Given the description of an element on the screen output the (x, y) to click on. 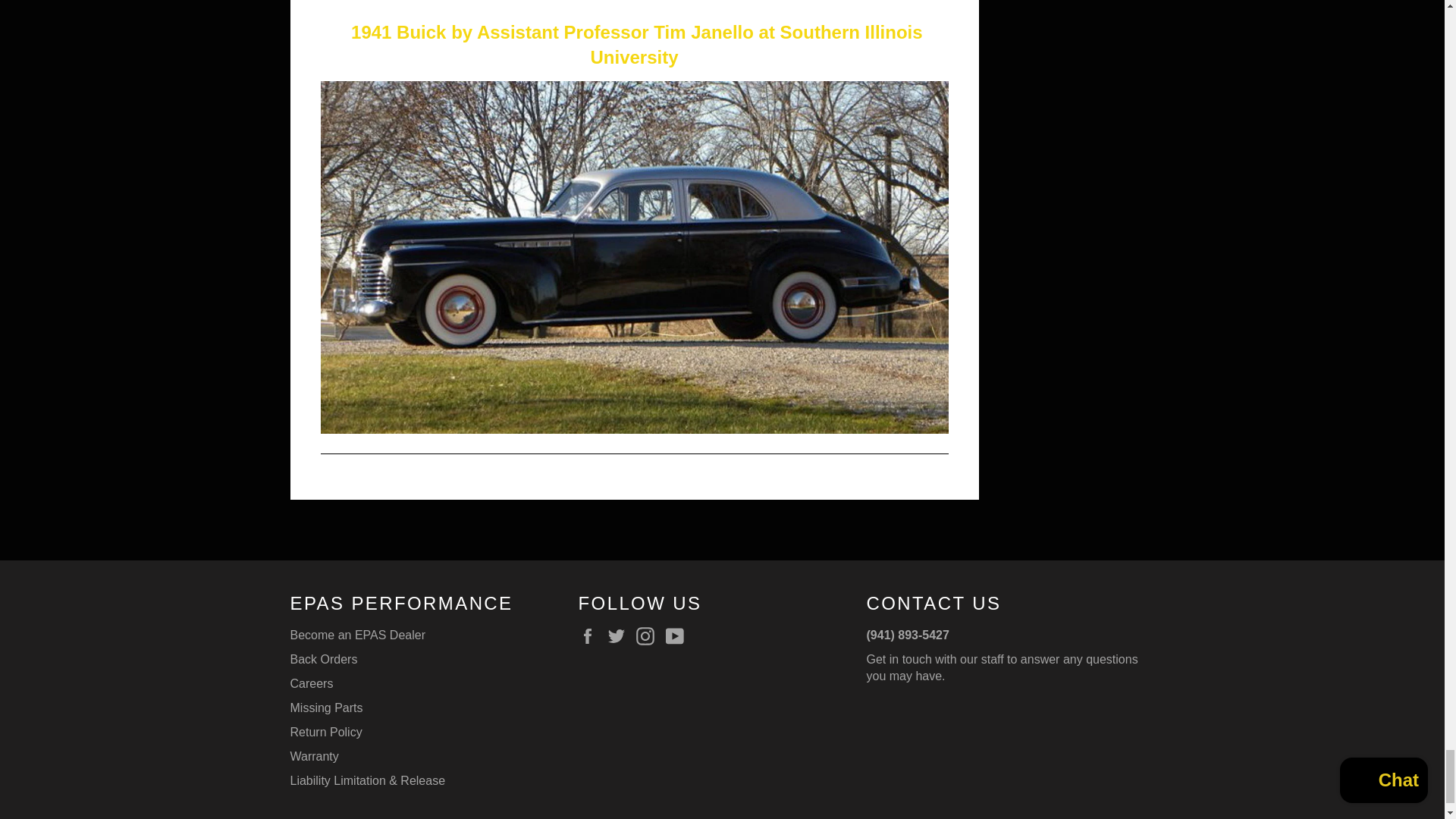
Contact Us (1001, 667)
EPAS Performance on Twitter (620, 636)
EPAS Performance on YouTube (678, 636)
EPAS Performance on Instagram (649, 636)
EPAS Performance on Facebook (591, 636)
